Given the description of an element on the screen output the (x, y) to click on. 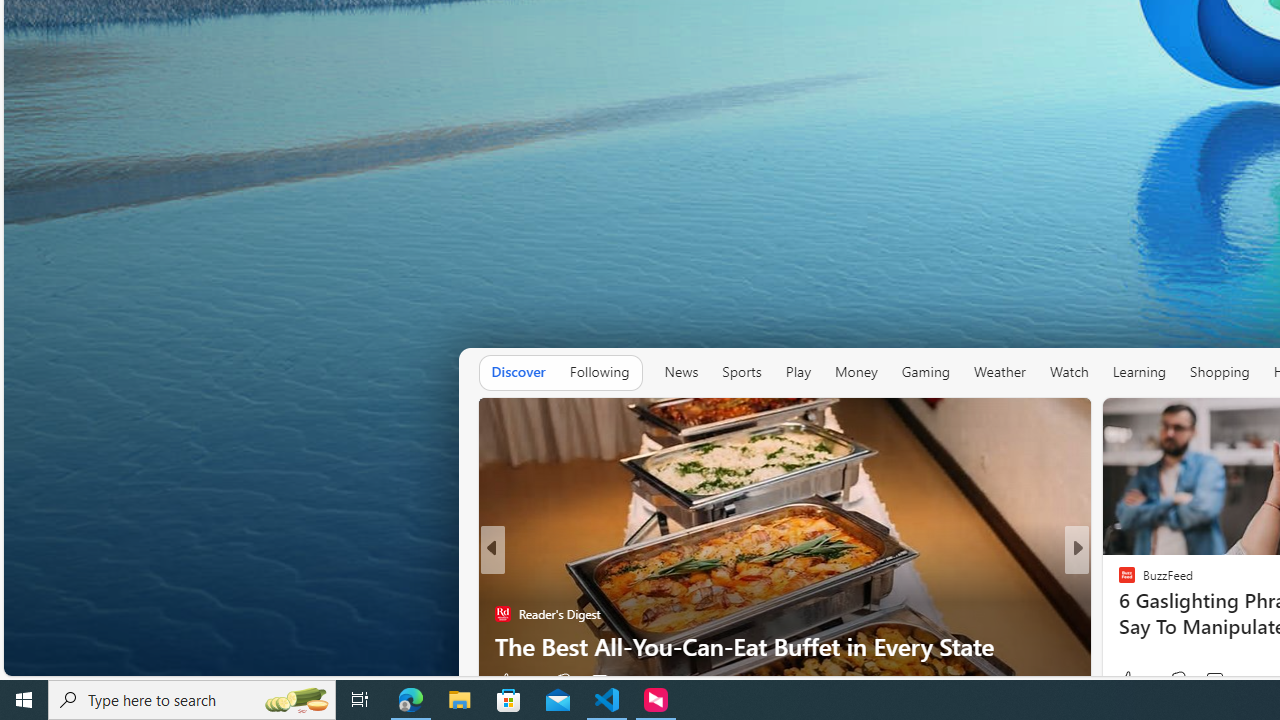
Sports (742, 372)
Southern Living (1117, 581)
Business Insider (1117, 581)
Watch (1068, 372)
GameRant (1117, 614)
Discover (518, 372)
Money (856, 371)
Microsoft Edge - 1 running window (411, 699)
Watch (1068, 371)
Reader's Digest (1117, 614)
Learning (1138, 372)
Weather (1000, 372)
BuzzFeed (1117, 581)
Following (599, 371)
Learning (1138, 371)
